Given the description of an element on the screen output the (x, y) to click on. 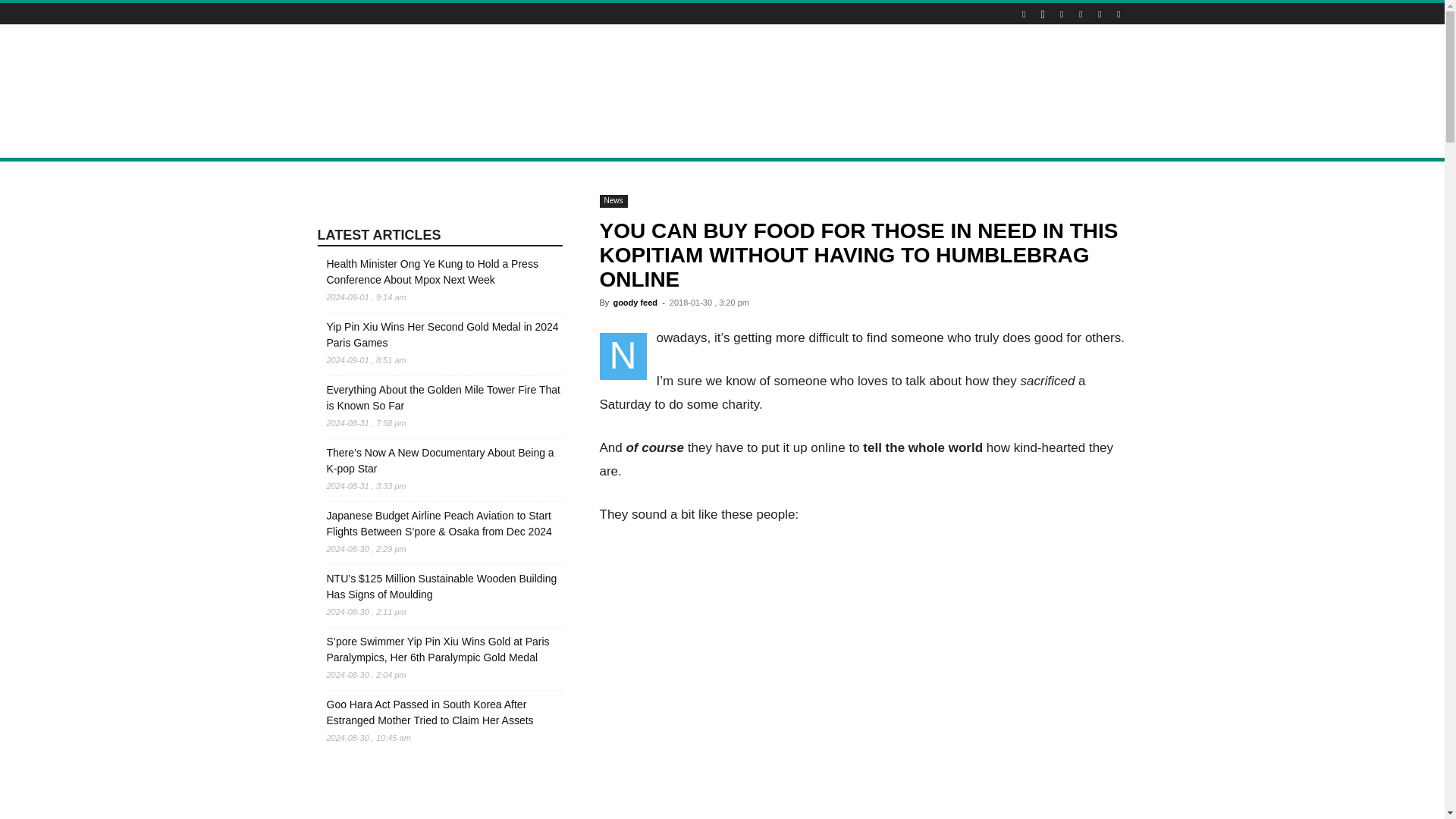
ENTERTAINMENT (584, 139)
LIFESTYLE (400, 139)
NEWS (341, 139)
LAUGHS (663, 139)
DEALS (461, 139)
FEATURED (885, 139)
SPOOKS (724, 139)
FOOD (511, 139)
WORK (824, 139)
TECH (776, 139)
